Given the description of an element on the screen output the (x, y) to click on. 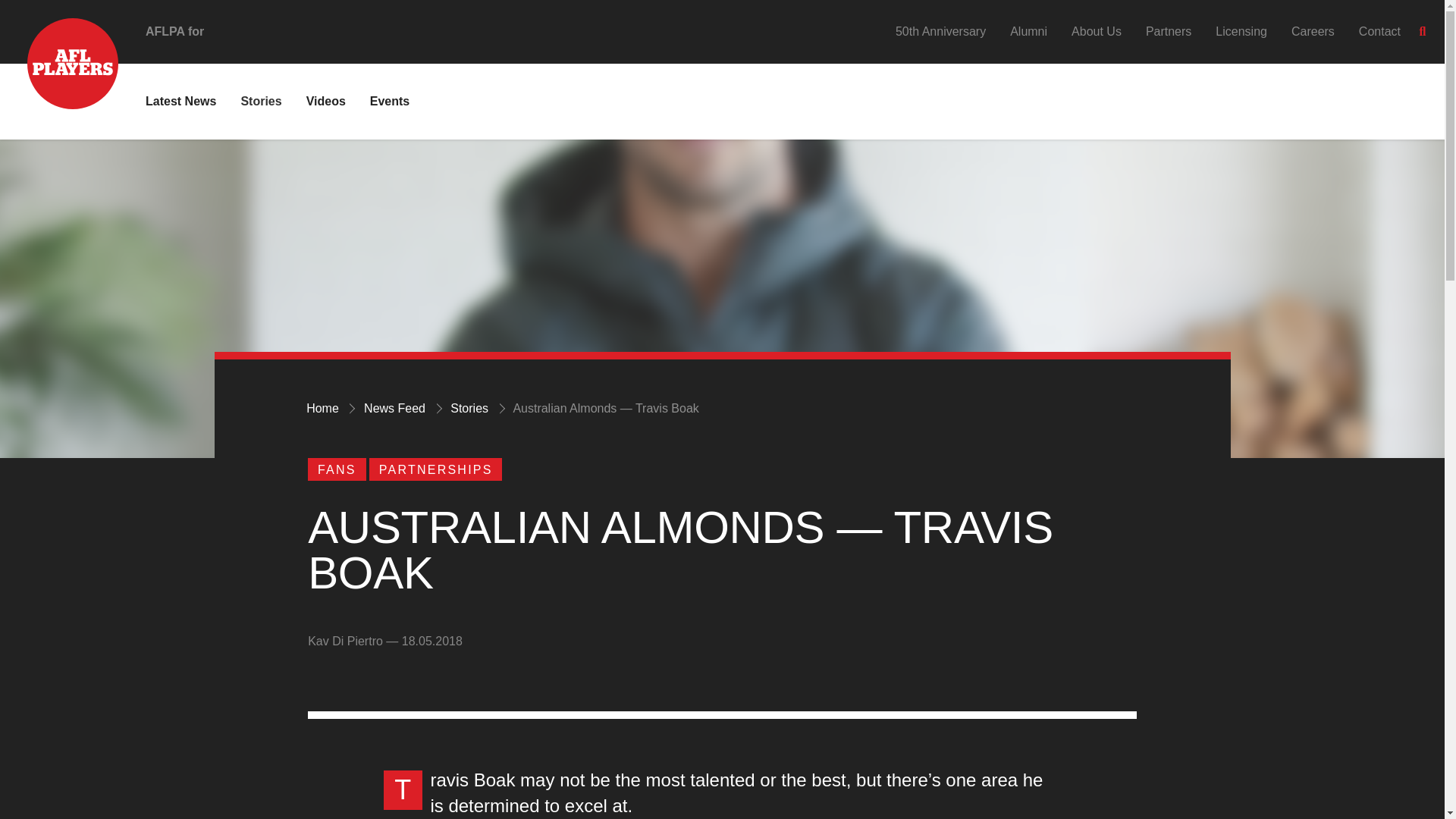
Events (389, 101)
Latest News (180, 101)
PARTNERSHIPS (435, 468)
FANS (336, 468)
Alumni (1028, 31)
Careers (1313, 31)
AFL Players' Association Limited (58, 40)
Stories (468, 408)
Partners (1168, 31)
Contact (1379, 31)
